Given the description of an element on the screen output the (x, y) to click on. 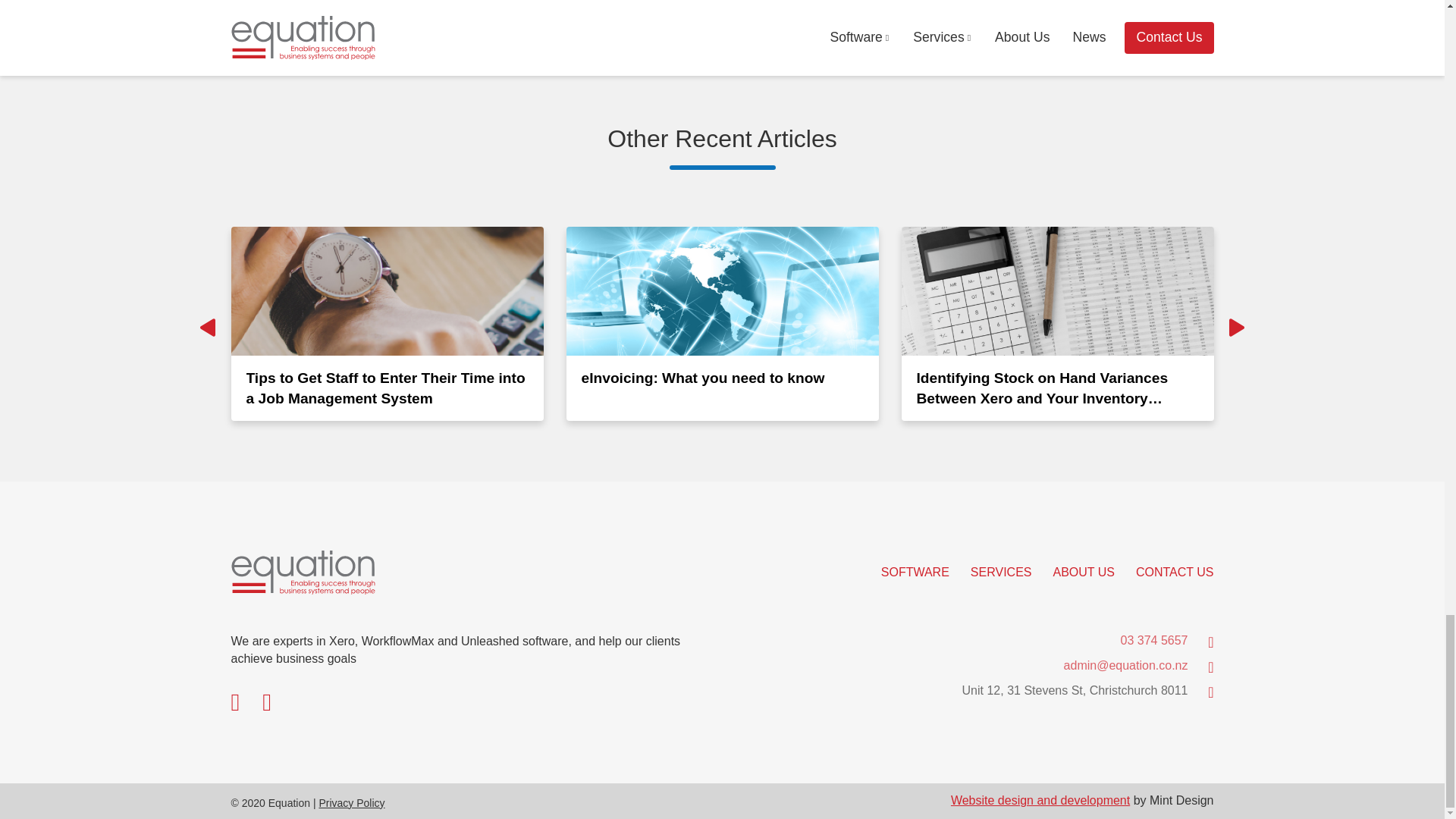
Back to Articles (325, 4)
eInvoicing: What you need to know (721, 323)
Mint Design Ltd (1039, 799)
eInvoicing: What you need to know (721, 323)
03 374 5657 (1154, 640)
